Given the description of an element on the screen output the (x, y) to click on. 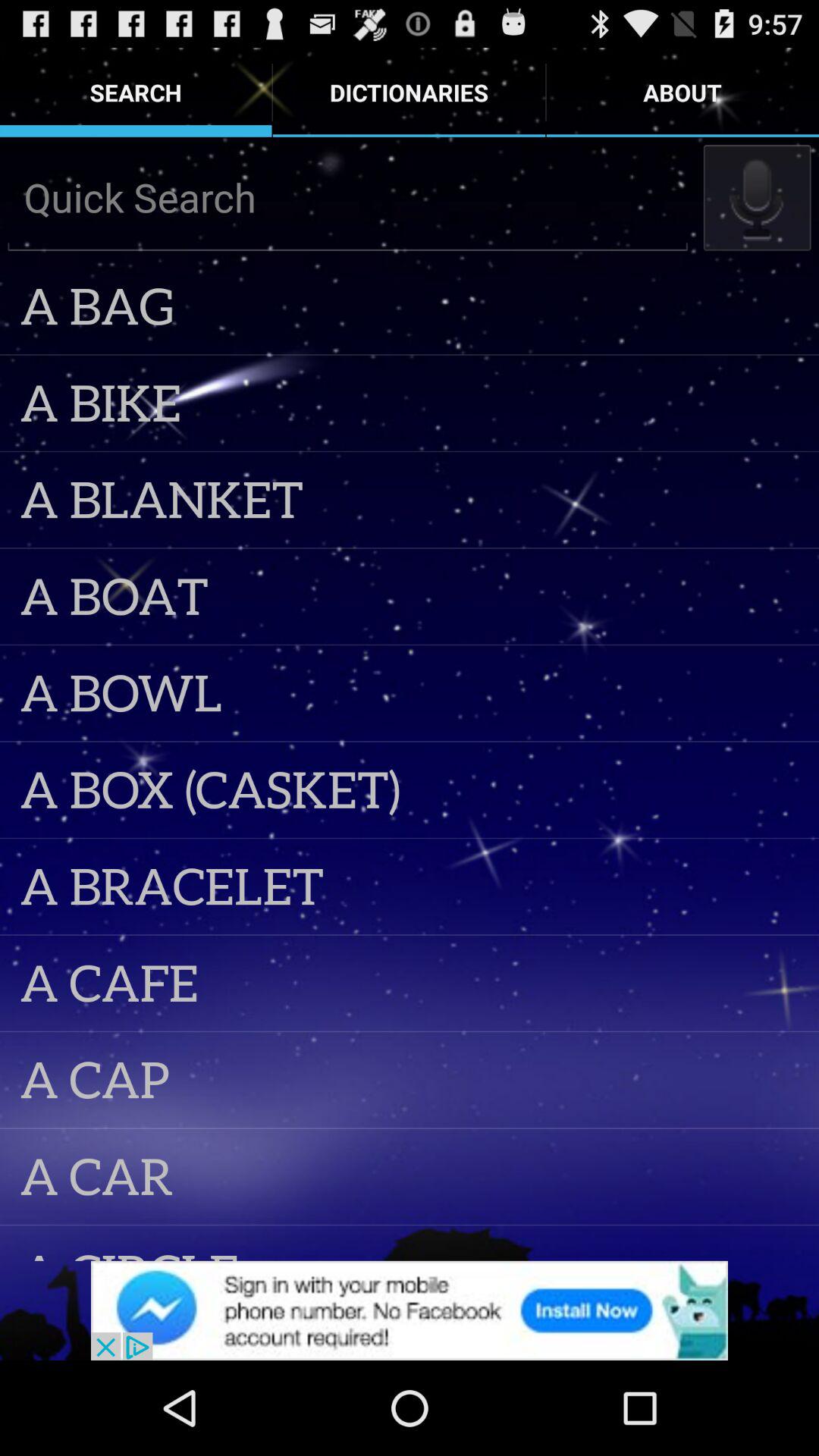
search (347, 197)
